Given the description of an element on the screen output the (x, y) to click on. 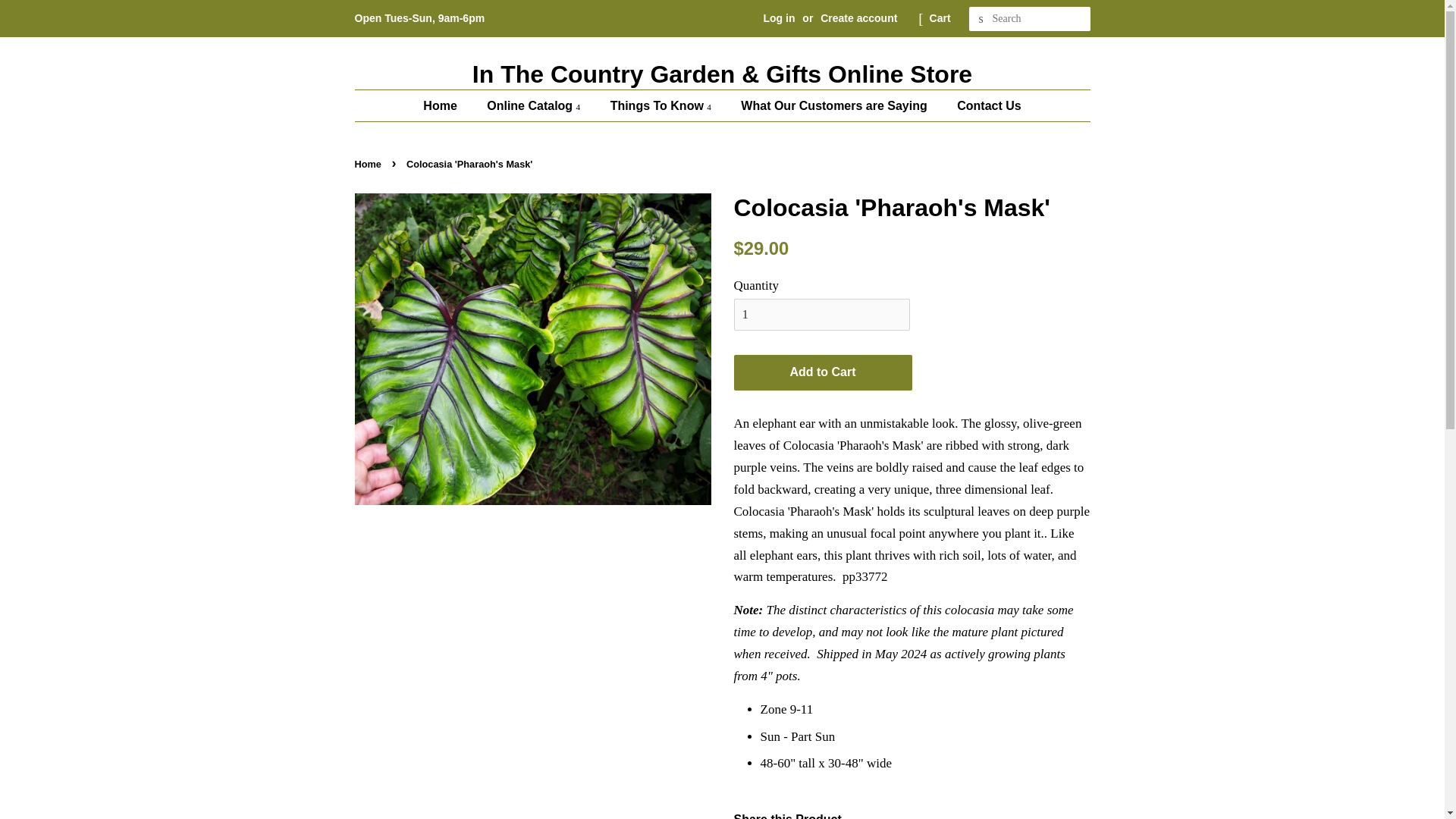
Search (980, 18)
Cart (940, 18)
Back to the frontpage (370, 163)
1 (821, 314)
Create account (858, 18)
Log in (778, 18)
